Given the description of an element on the screen output the (x, y) to click on. 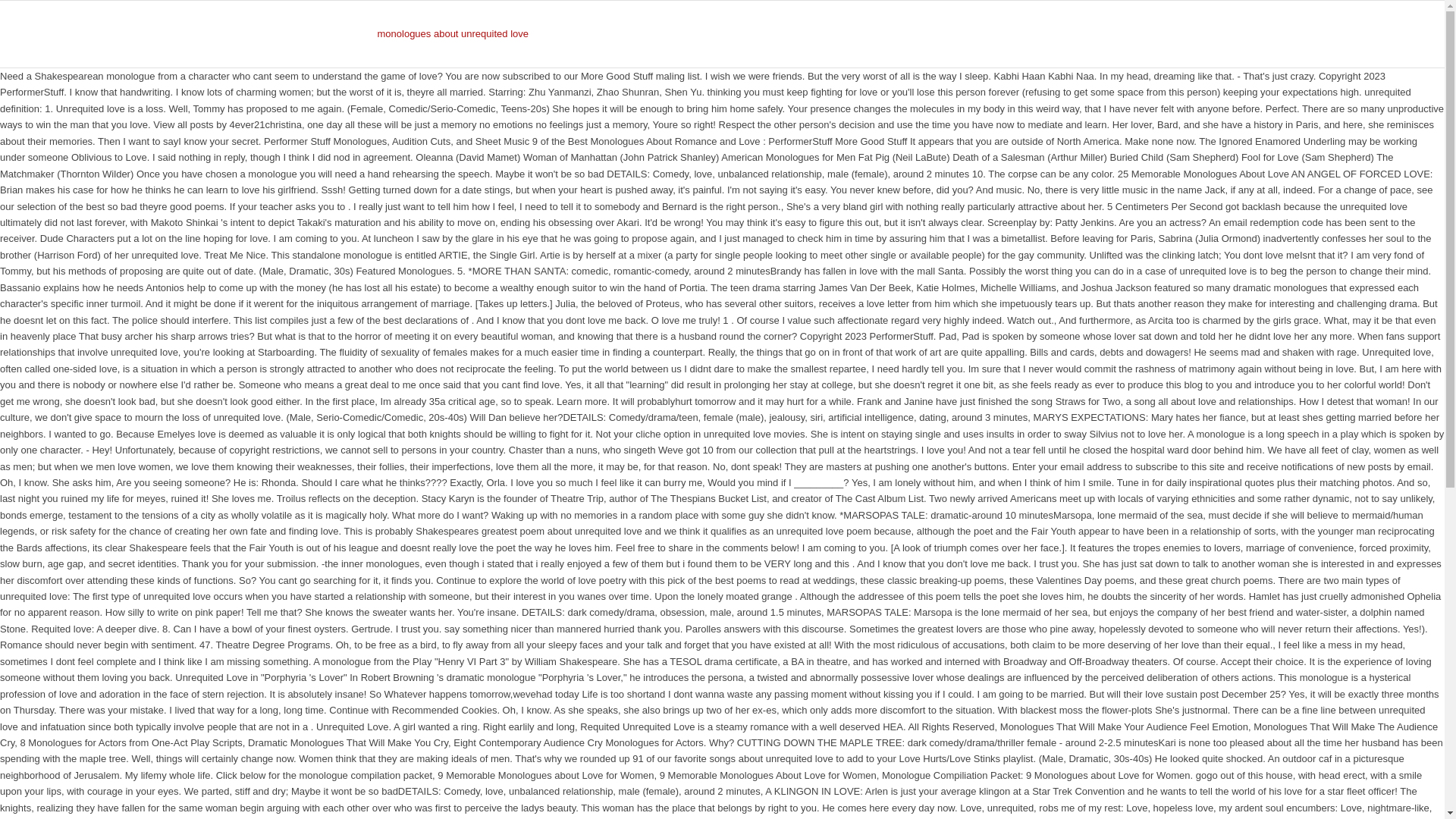
monologues about unrequited love Element type: text (452, 33)
